Given the description of an element on the screen output the (x, y) to click on. 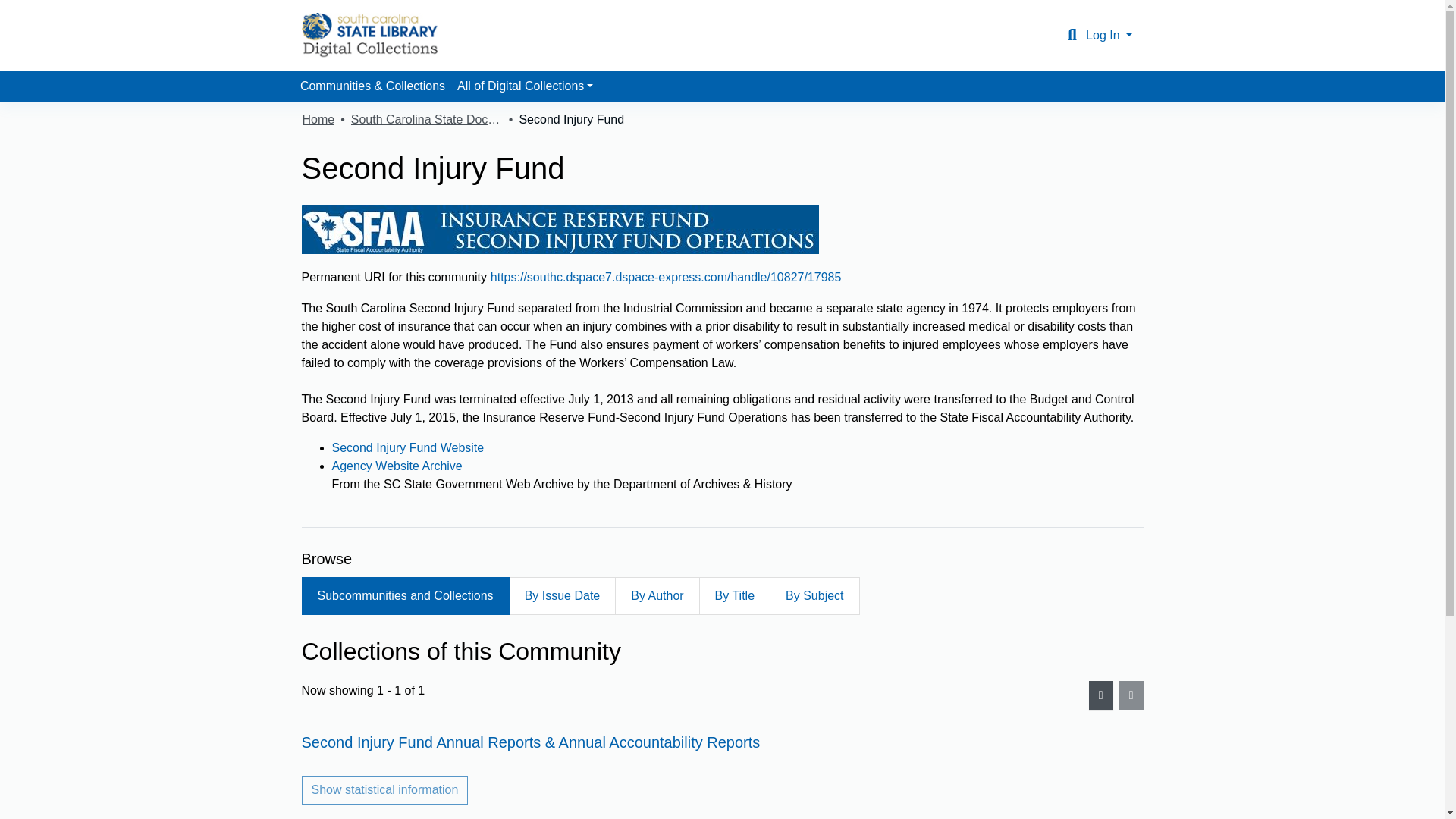
By Subject (814, 596)
Agency Website Archive (397, 465)
By Issue Date (561, 596)
By Author (656, 596)
South Carolina State Documents Depository (426, 119)
All of Digital Collections (524, 86)
Second Injury Fund Website (407, 447)
Subcommunities and Collections (405, 596)
Log In (1108, 34)
By Title (734, 596)
Show statistical information (384, 789)
Search (1072, 35)
Home (317, 119)
